Given the description of an element on the screen output the (x, y) to click on. 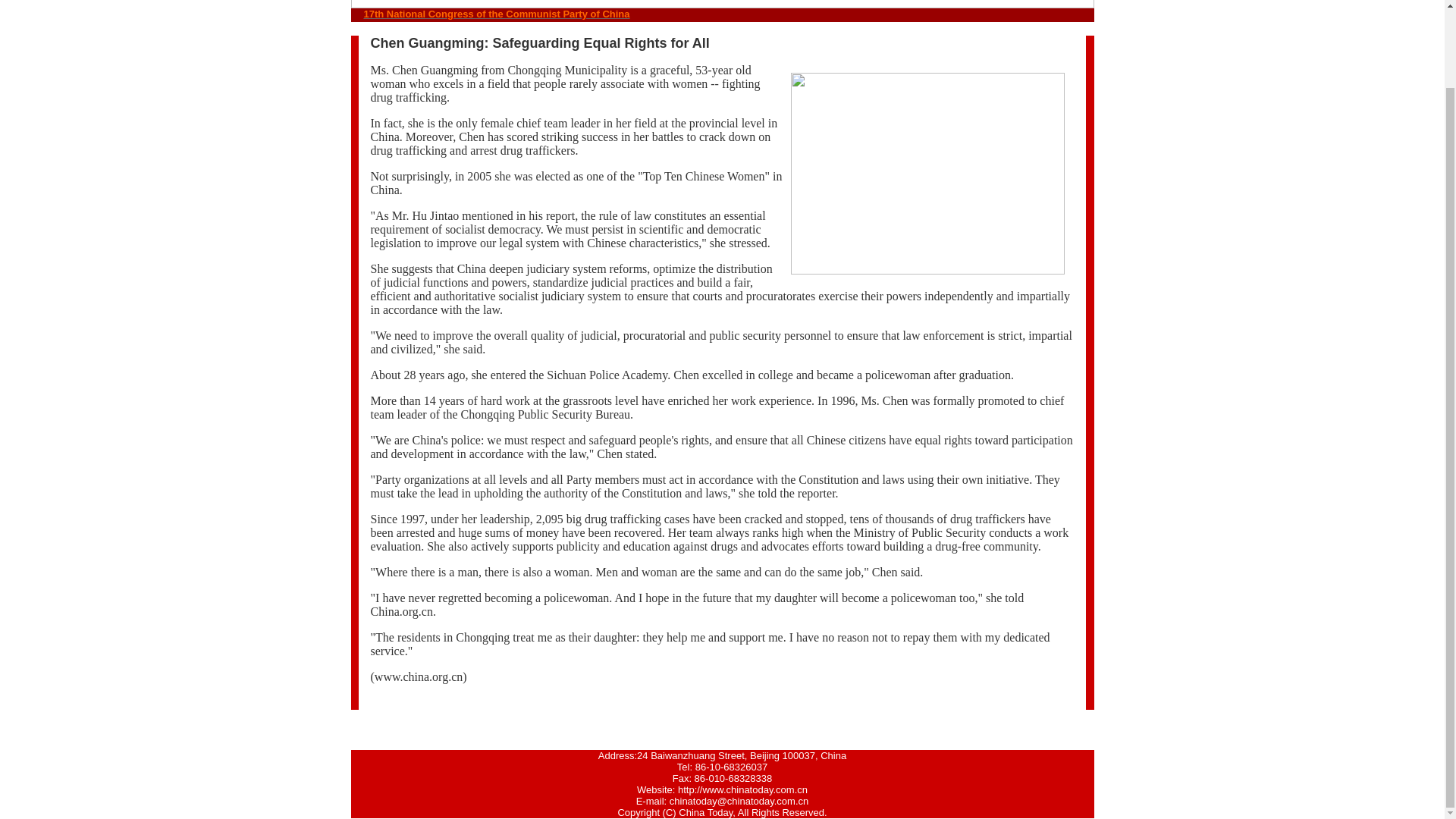
17th National Congress of the Communist Party of China (497, 13)
